Given the description of an element on the screen output the (x, y) to click on. 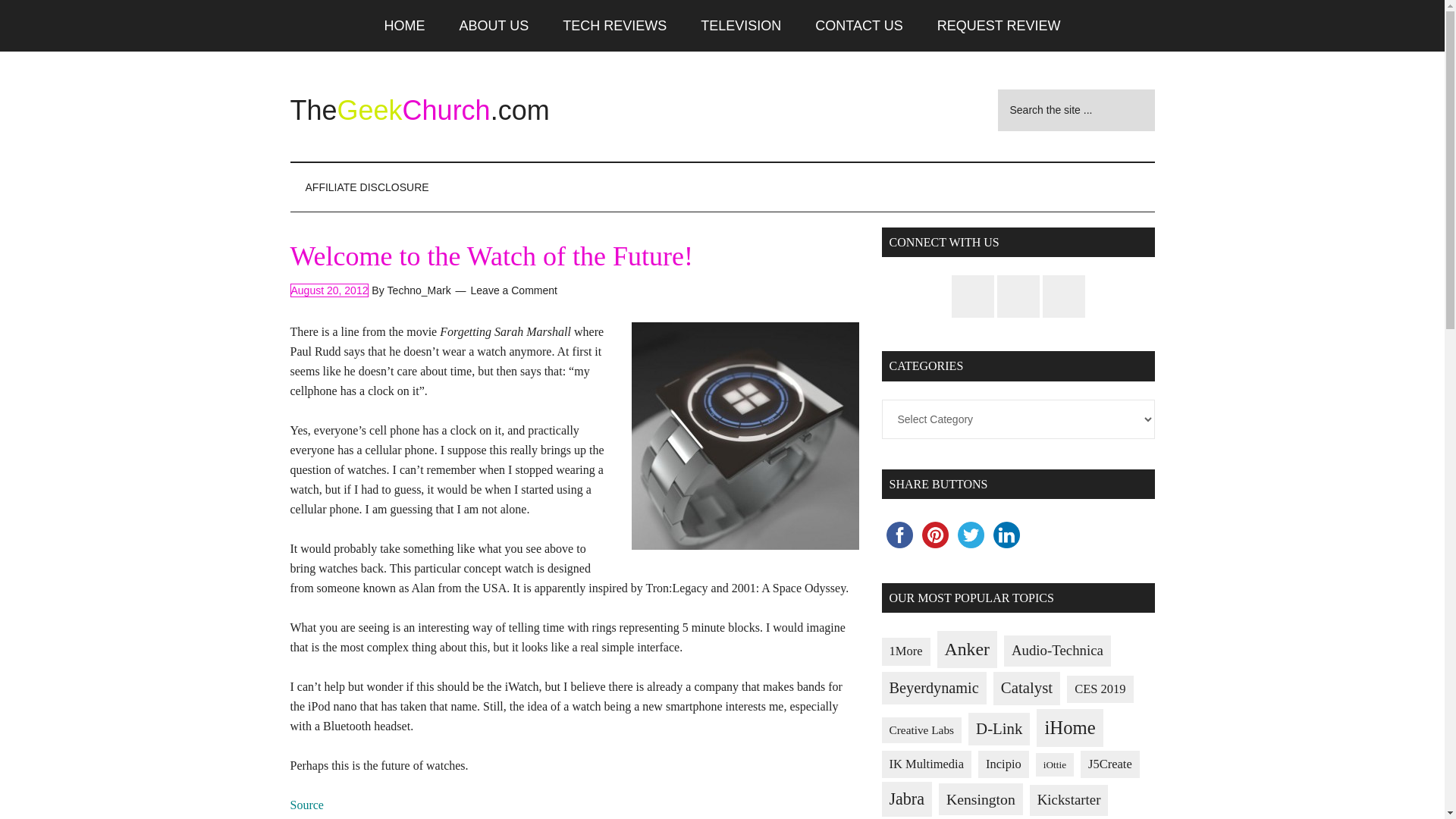
Source (306, 804)
1More (905, 651)
TELEVISION (740, 25)
TheGeekChurch.com (418, 110)
linkedin (1006, 534)
facebook (898, 534)
Anker (967, 649)
TECH REVIEWS (614, 25)
34top (744, 435)
REQUEST REVIEW (998, 25)
CONTACT US (858, 25)
Beyerdynamic (932, 687)
Audio-Technica (1057, 650)
